Given the description of an element on the screen output the (x, y) to click on. 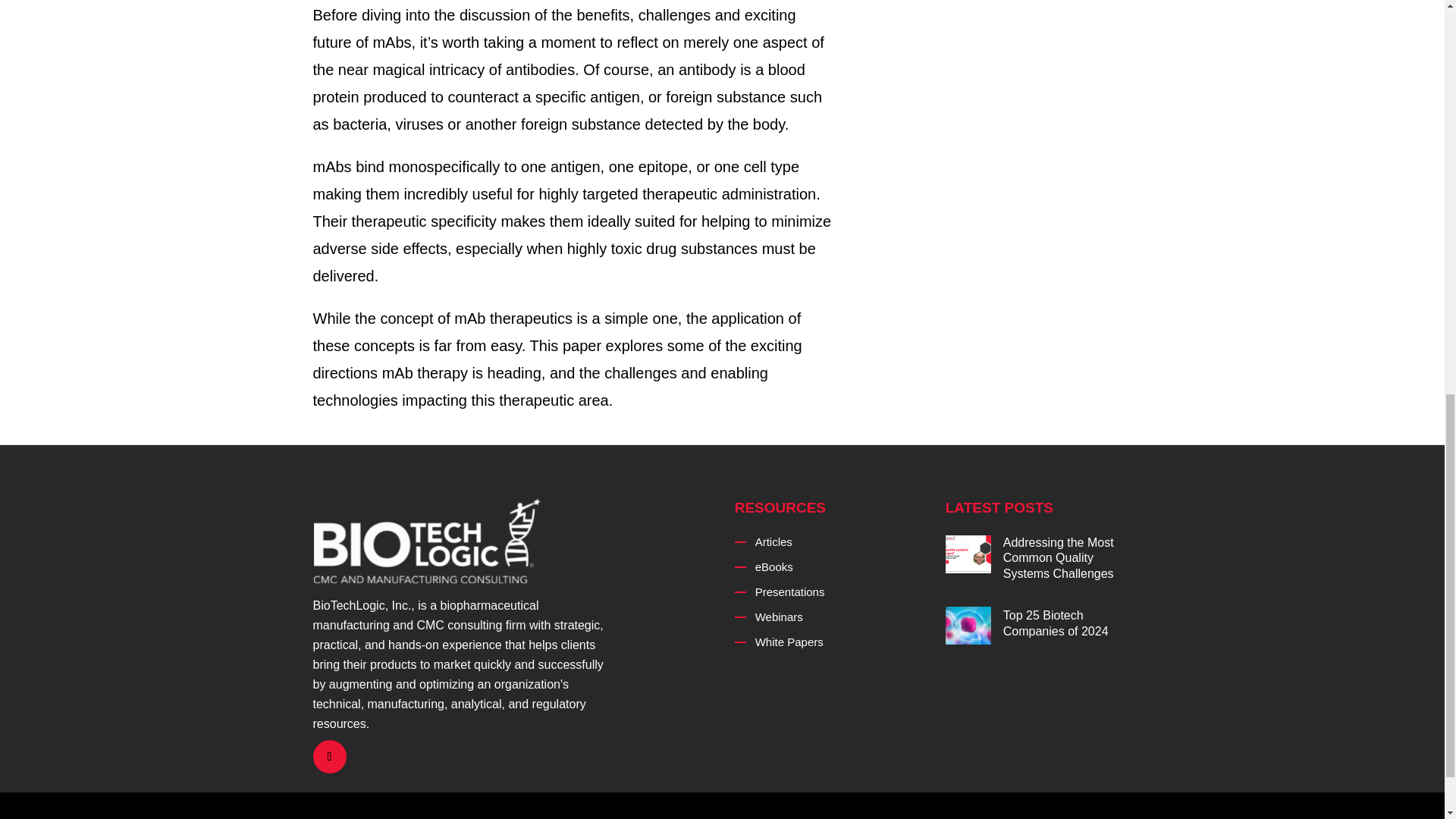
Follow on LinkedIn (329, 756)
